Given the description of an element on the screen output the (x, y) to click on. 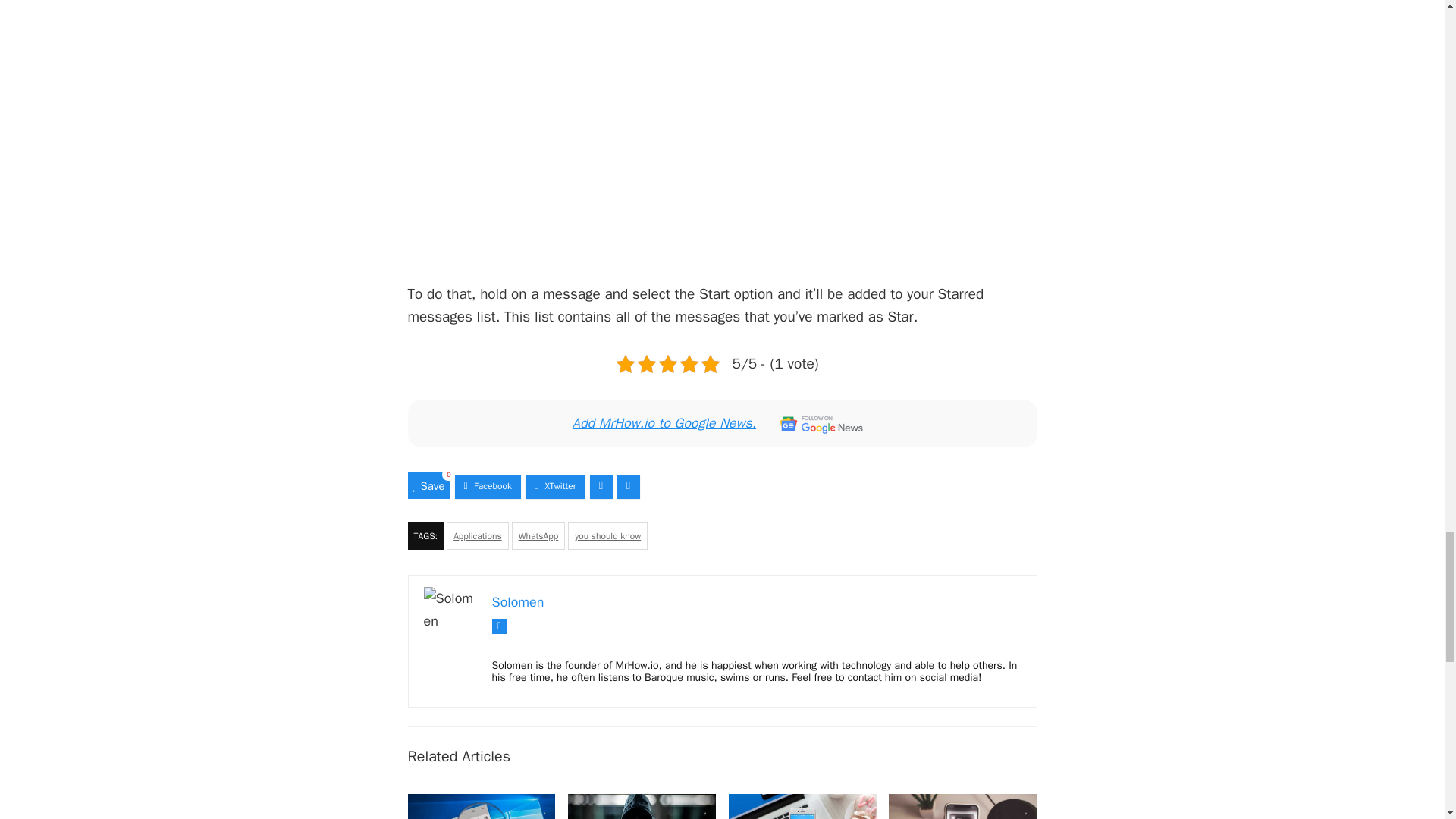
Solomen (517, 601)
Applications (477, 535)
WhatsApp (539, 535)
you should know (607, 535)
Add MrHow.io to Google News. (721, 422)
